Given the description of an element on the screen output the (x, y) to click on. 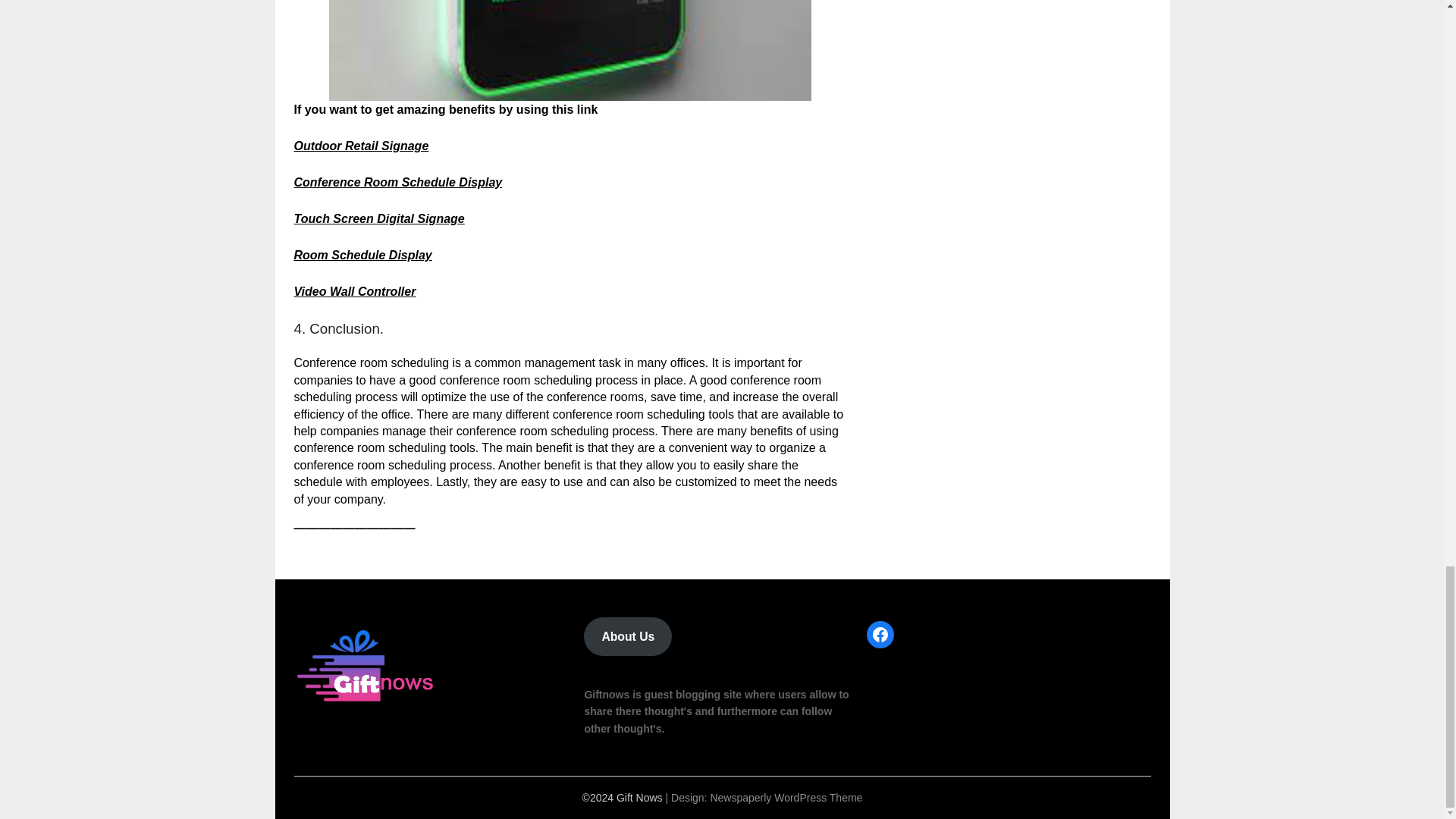
Room Schedule Display (363, 254)
Video Wall Controller (355, 291)
Conference Room Schedule Display (398, 182)
About Us (627, 636)
Facebook (879, 634)
Outdoor Retail Signage (361, 145)
Newspaperly WordPress Theme (785, 797)
Touch Screen Digital Signage (379, 218)
